Given the description of an element on the screen output the (x, y) to click on. 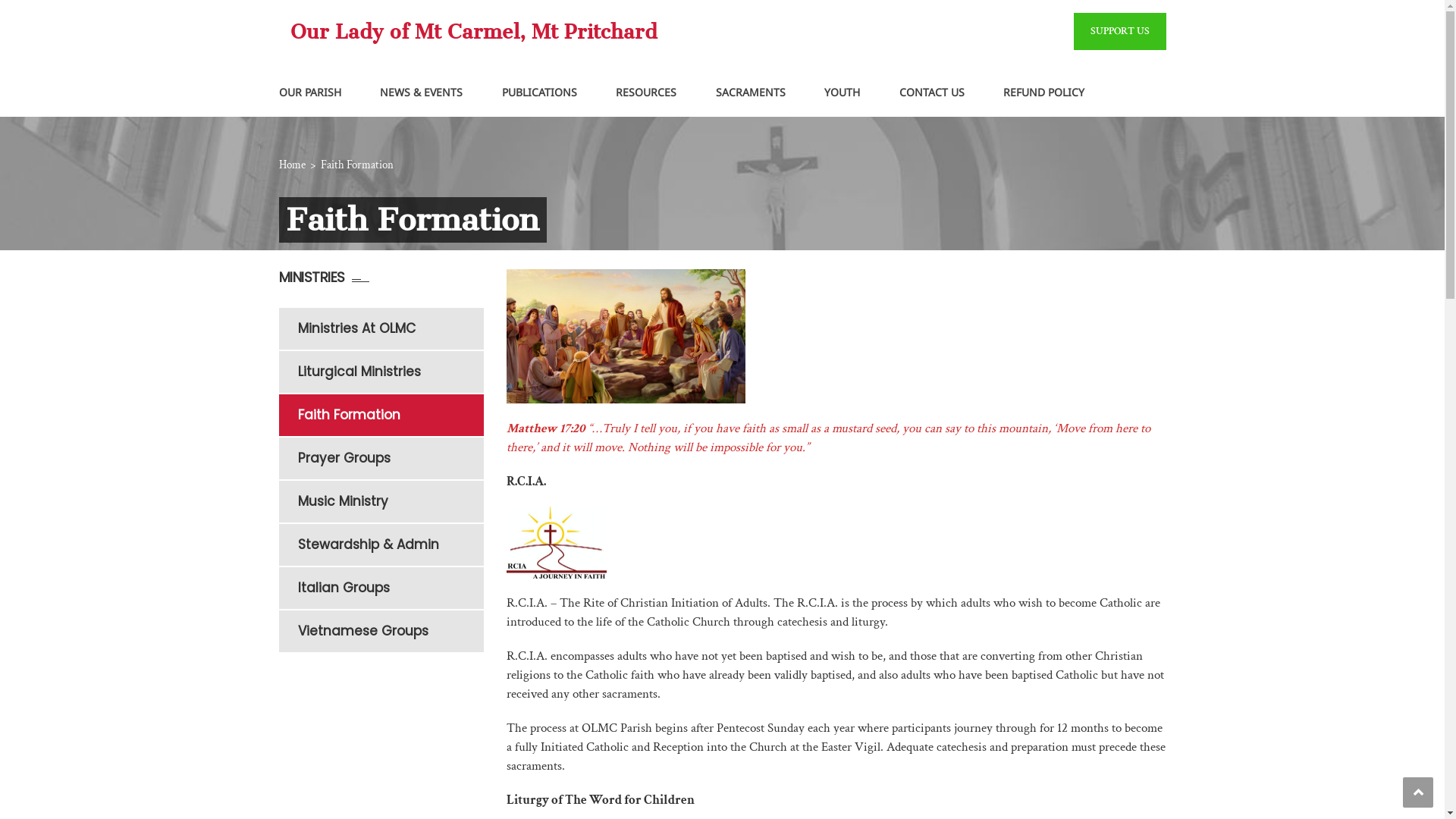
SACRAMENTS Element type: text (750, 91)
Search Element type: text (1144, 160)
REFUND POLICY Element type: text (1043, 91)
SUPPORT US Element type: text (1119, 31)
Ministries At OLMC Element type: text (390, 328)
Stewardship & Admin Element type: text (390, 544)
Music Ministry Element type: text (390, 501)
Faith Formation Element type: text (390, 415)
CONTACT US Element type: text (931, 91)
NEWS & EVENTS Element type: text (420, 91)
YOUTH Element type: text (841, 91)
OUR PARISH Element type: text (310, 91)
Italian Groups Element type: text (390, 587)
Home Element type: text (292, 164)
Prayer Groups Element type: text (390, 458)
PUBLICATIONS Element type: text (539, 91)
Our Lady of Mt Carmel, Mt Pritchard Element type: text (472, 31)
RESOURCES Element type: text (645, 91)
Liturgical Ministries Element type: text (390, 371)
Vietnamese Groups Element type: text (390, 631)
